Given the description of an element on the screen output the (x, y) to click on. 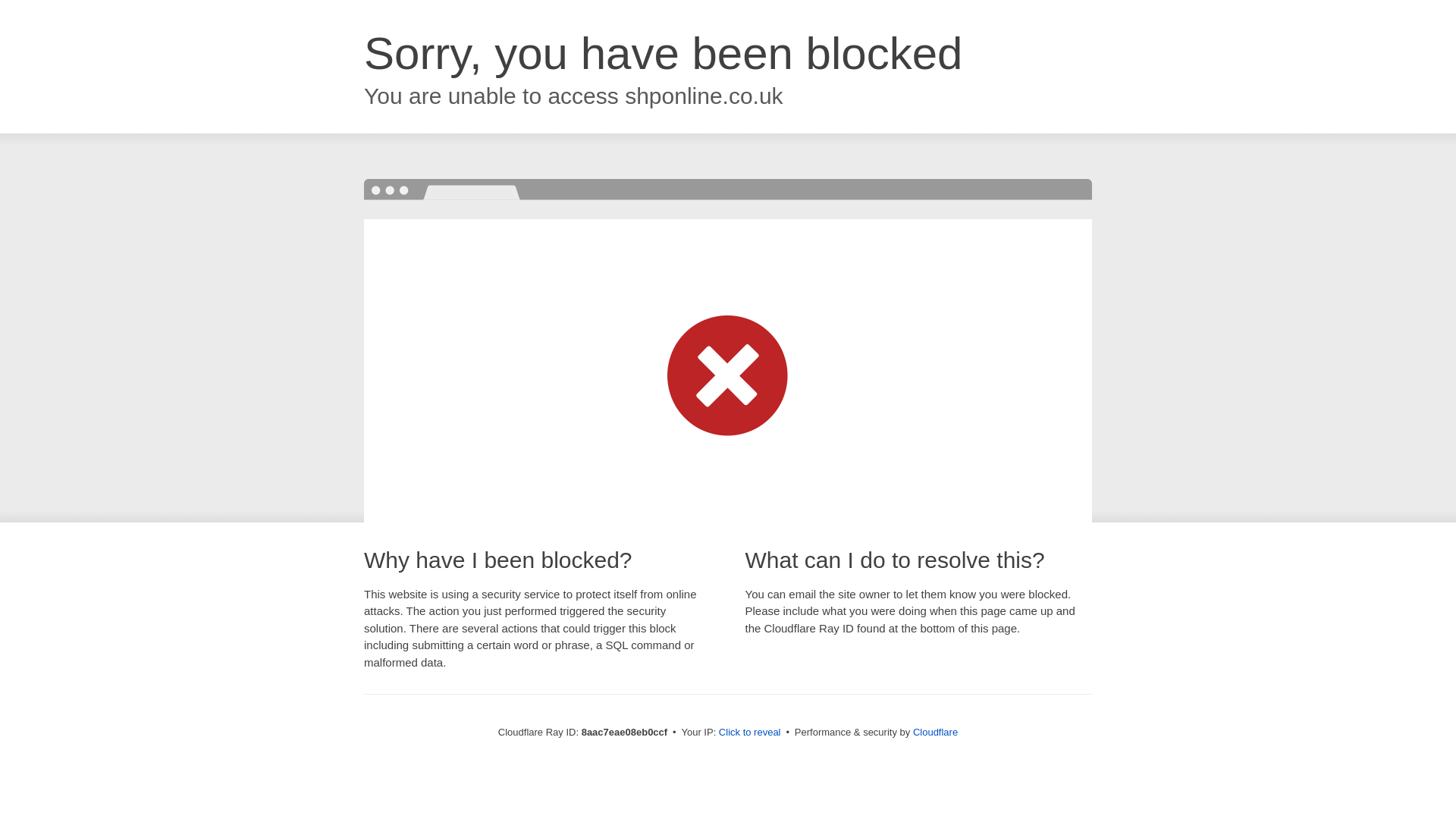
Cloudflare (935, 731)
Click to reveal (749, 732)
